Given the description of an element on the screen output the (x, y) to click on. 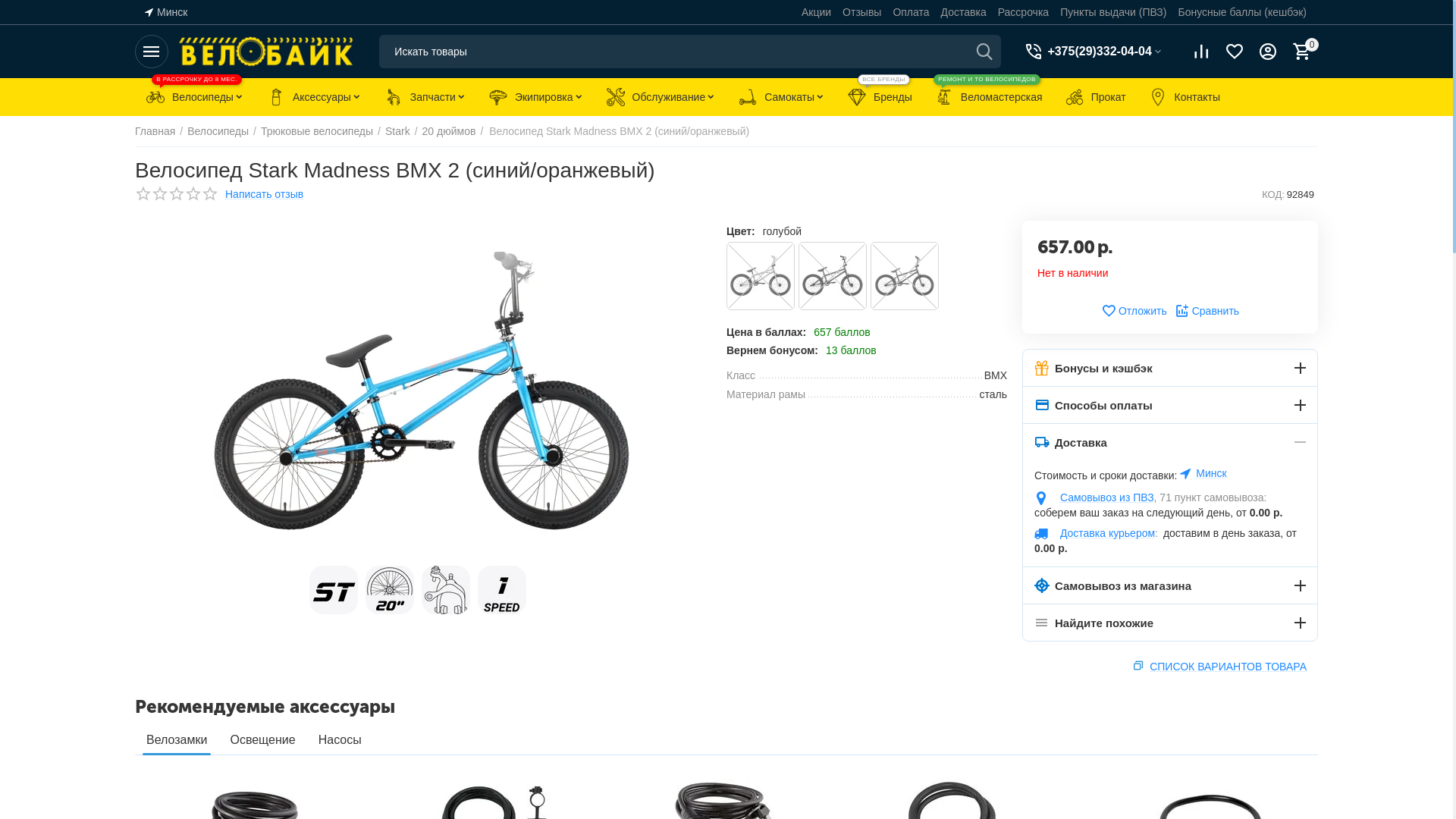
Stark Element type: text (397, 130)
0 Element type: text (1301, 51)
+375(29)332-04-04 Element type: text (1097, 51)
